Given the description of an element on the screen output the (x, y) to click on. 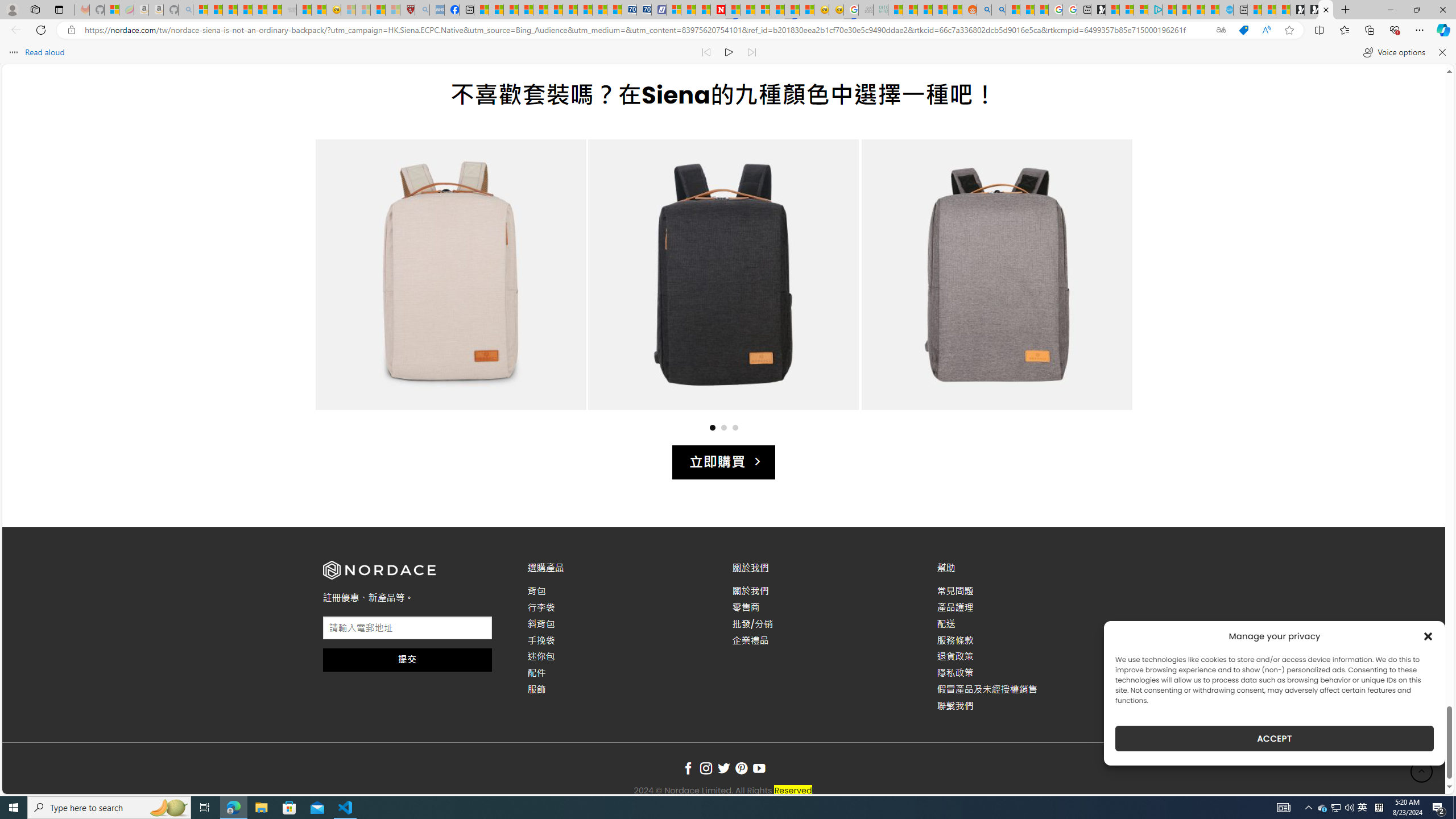
Page dot 1 (711, 427)
Next (1102, 285)
Cheap Car Rentals - Save70.com (629, 9)
Read next paragraph (750, 52)
Follow on Instagram (705, 768)
